Given the description of an element on the screen output the (x, y) to click on. 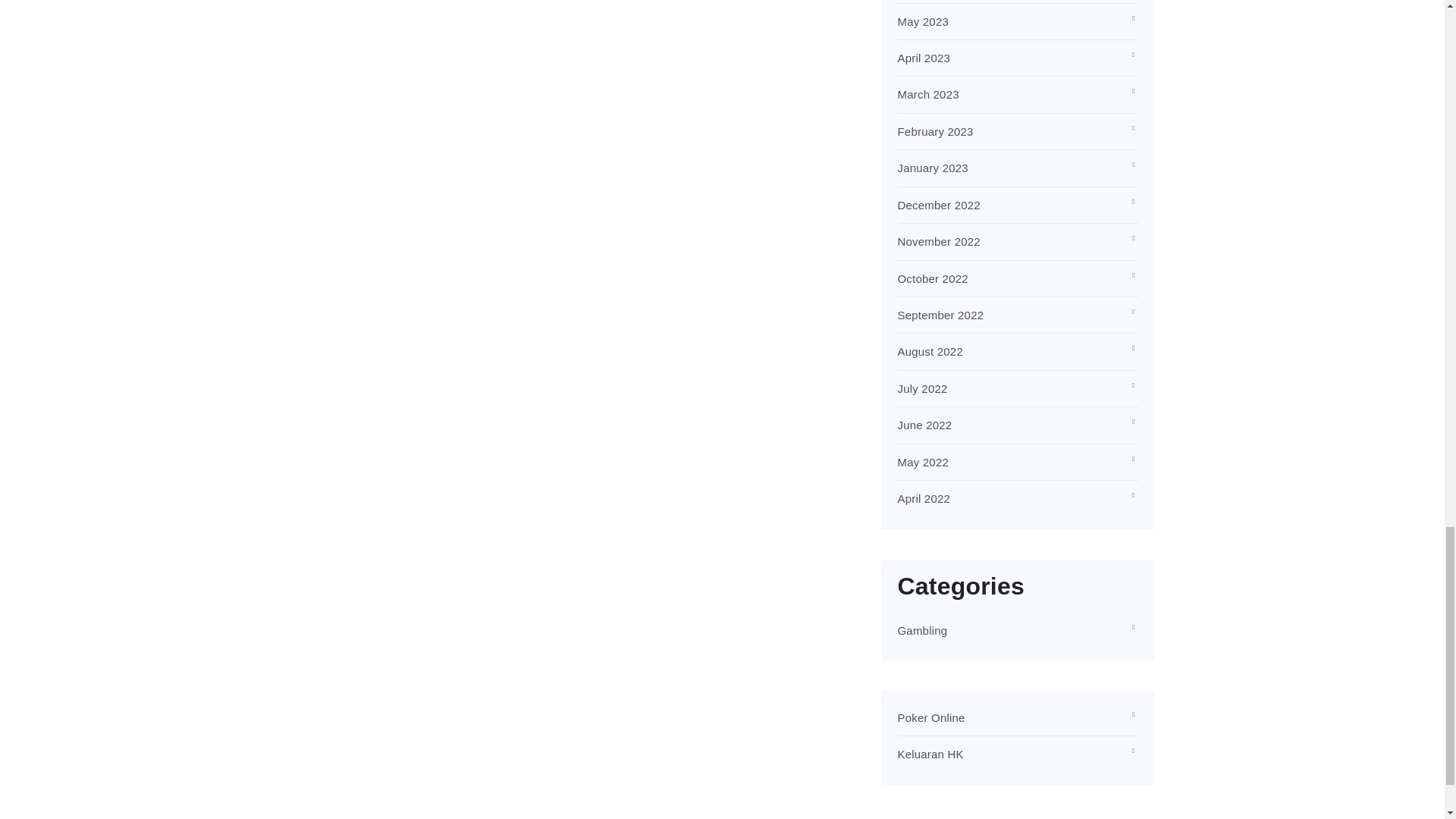
May 2023 (923, 21)
